Given the description of an element on the screen output the (x, y) to click on. 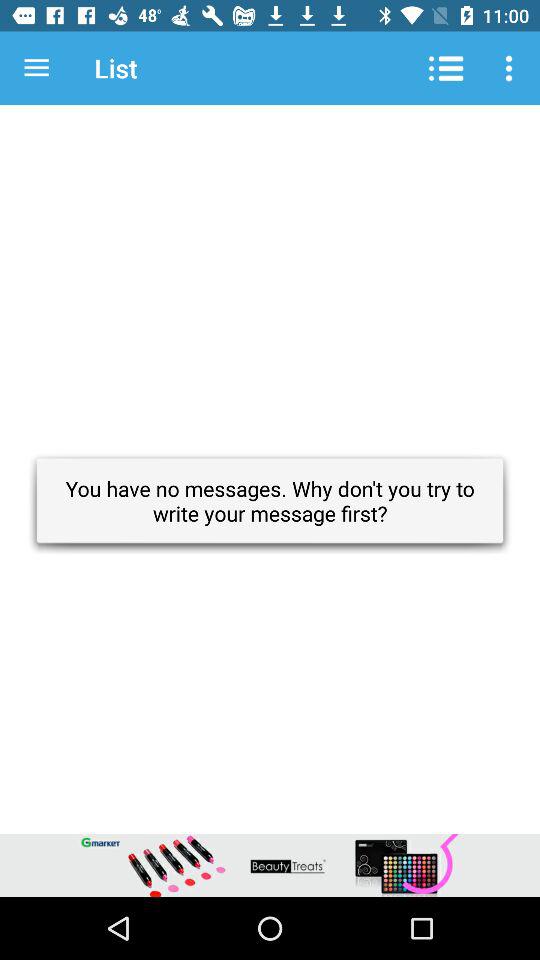
flip to the you have no (269, 500)
